Given the description of an element on the screen output the (x, y) to click on. 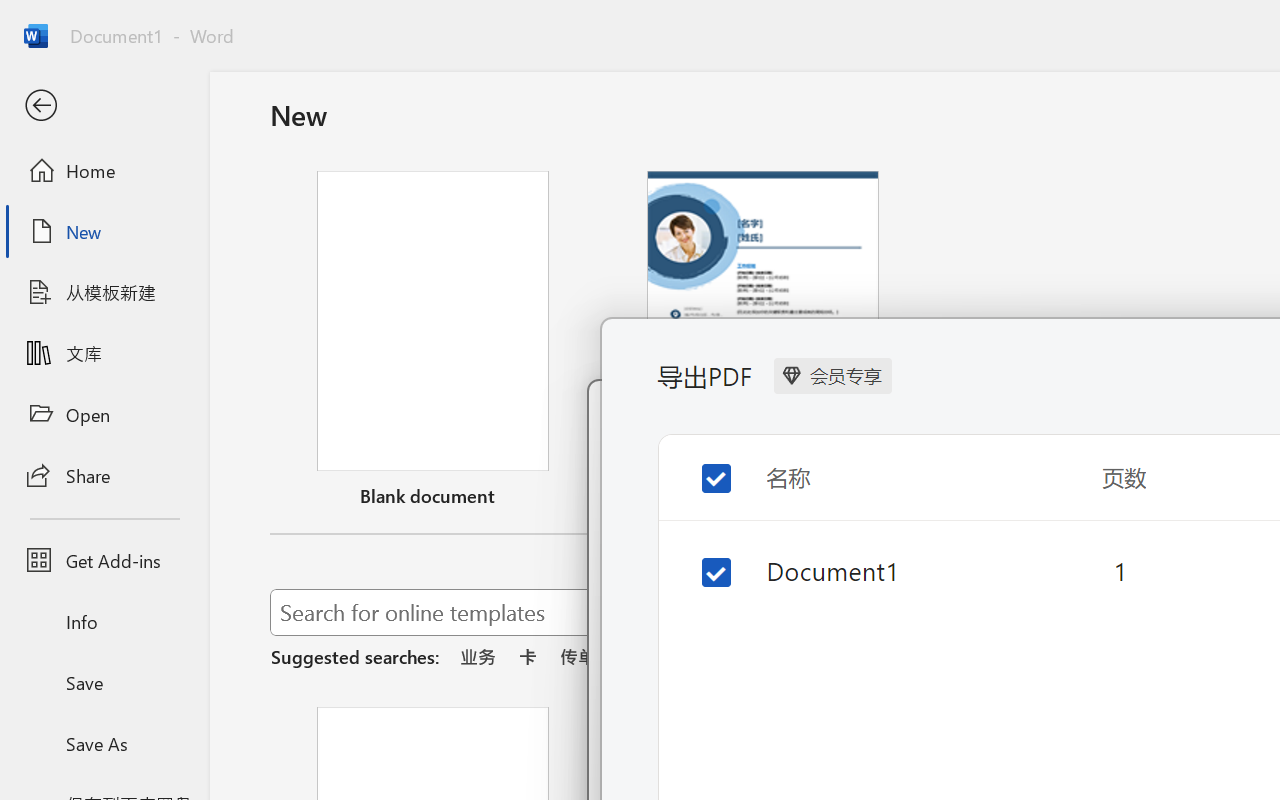
Document1 (881, 569)
New (104, 231)
Blank document (433, 343)
Get Add-ins (104, 560)
